Given the description of an element on the screen output the (x, y) to click on. 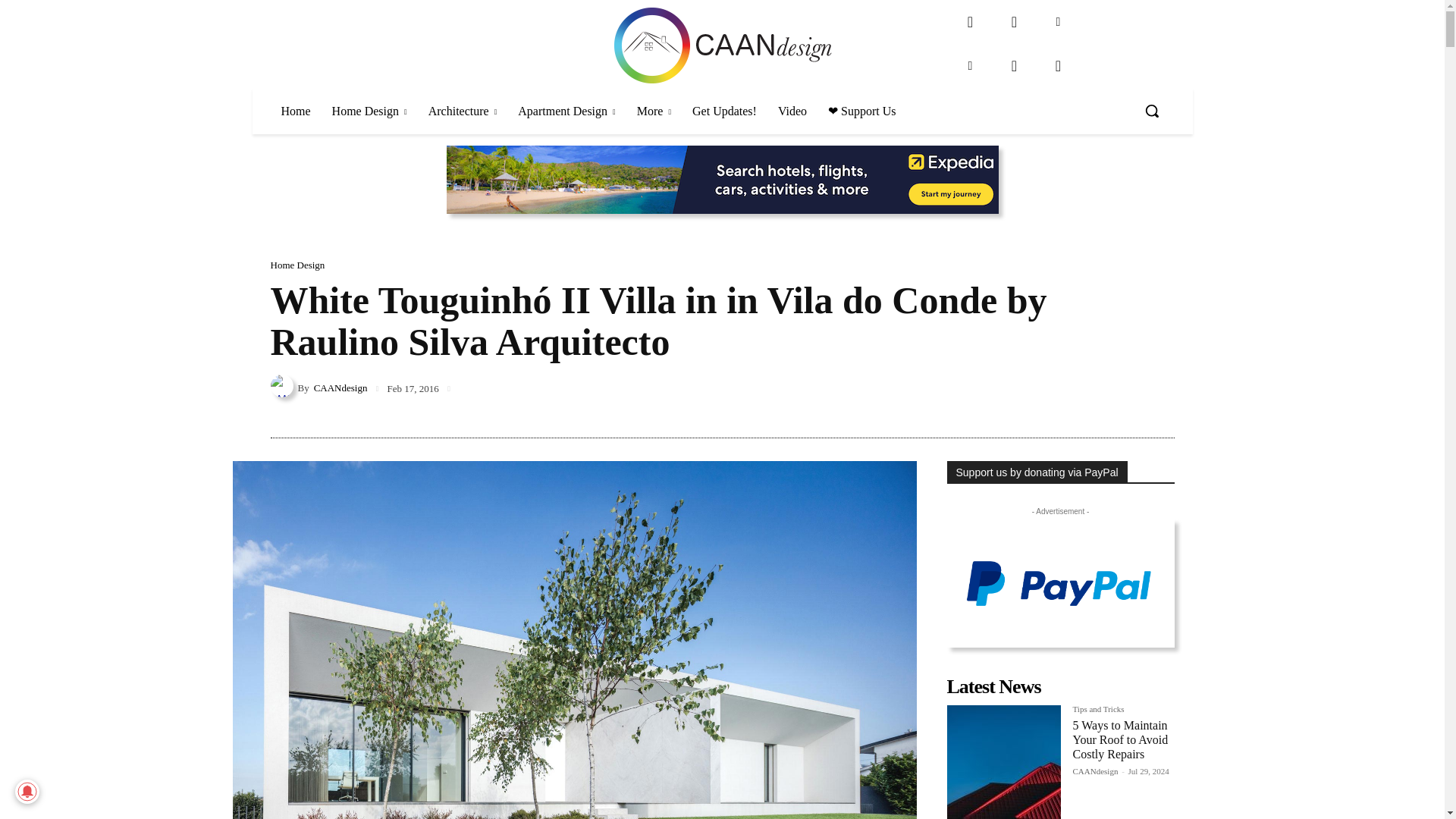
architecture and home design website (722, 45)
Facebook (970, 22)
architecture and home design website (721, 45)
Home Design (369, 110)
Home (294, 110)
Instagram (1013, 22)
